Given the description of an element on the screen output the (x, y) to click on. 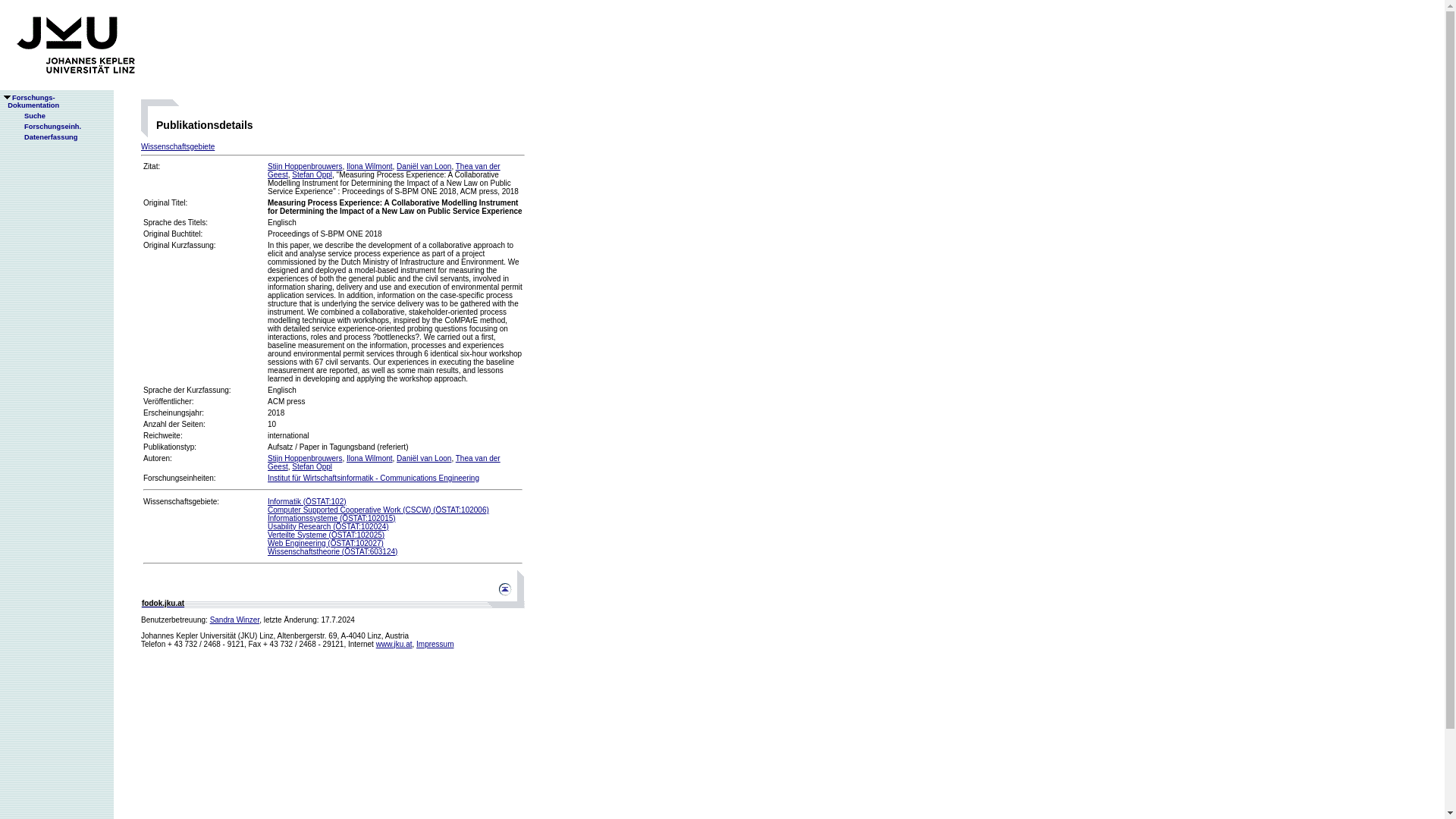
Impressum (434, 643)
fodok.jku.at (162, 602)
Stijn Hoppenbrouwers (304, 458)
Suche (28, 115)
Stefan Oppl (311, 466)
Thea van der Geest (383, 170)
Sandra Winzer (234, 619)
Wissenschaftsgebiete: (180, 501)
Ilona Wilmont (29, 101)
Wissenschaftsgebiete (369, 458)
Stefan Oppl (177, 146)
Ilona Wilmont (311, 174)
Forschungseinh. (369, 166)
Stijn Hoppenbrouwers (46, 126)
